Given the description of an element on the screen output the (x, y) to click on. 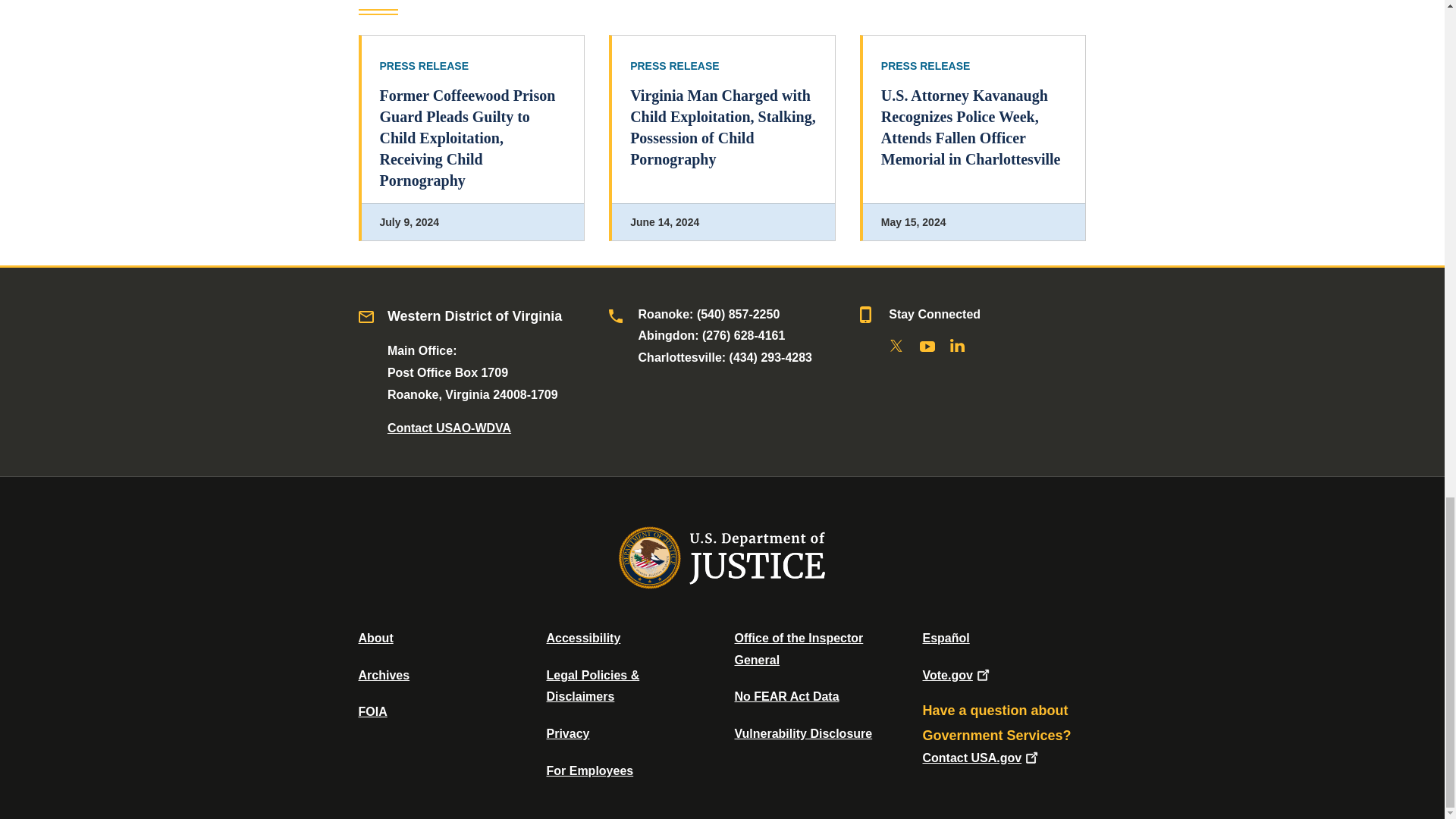
Department of Justice Archive (383, 675)
For Employees (589, 770)
About DOJ (375, 637)
Accessibility Statement (583, 637)
Legal Policies and Disclaimers (592, 686)
Data Posted Pursuant To The No Fear Act (785, 696)
Office of Information Policy (372, 711)
